Given the description of an element on the screen output the (x, y) to click on. 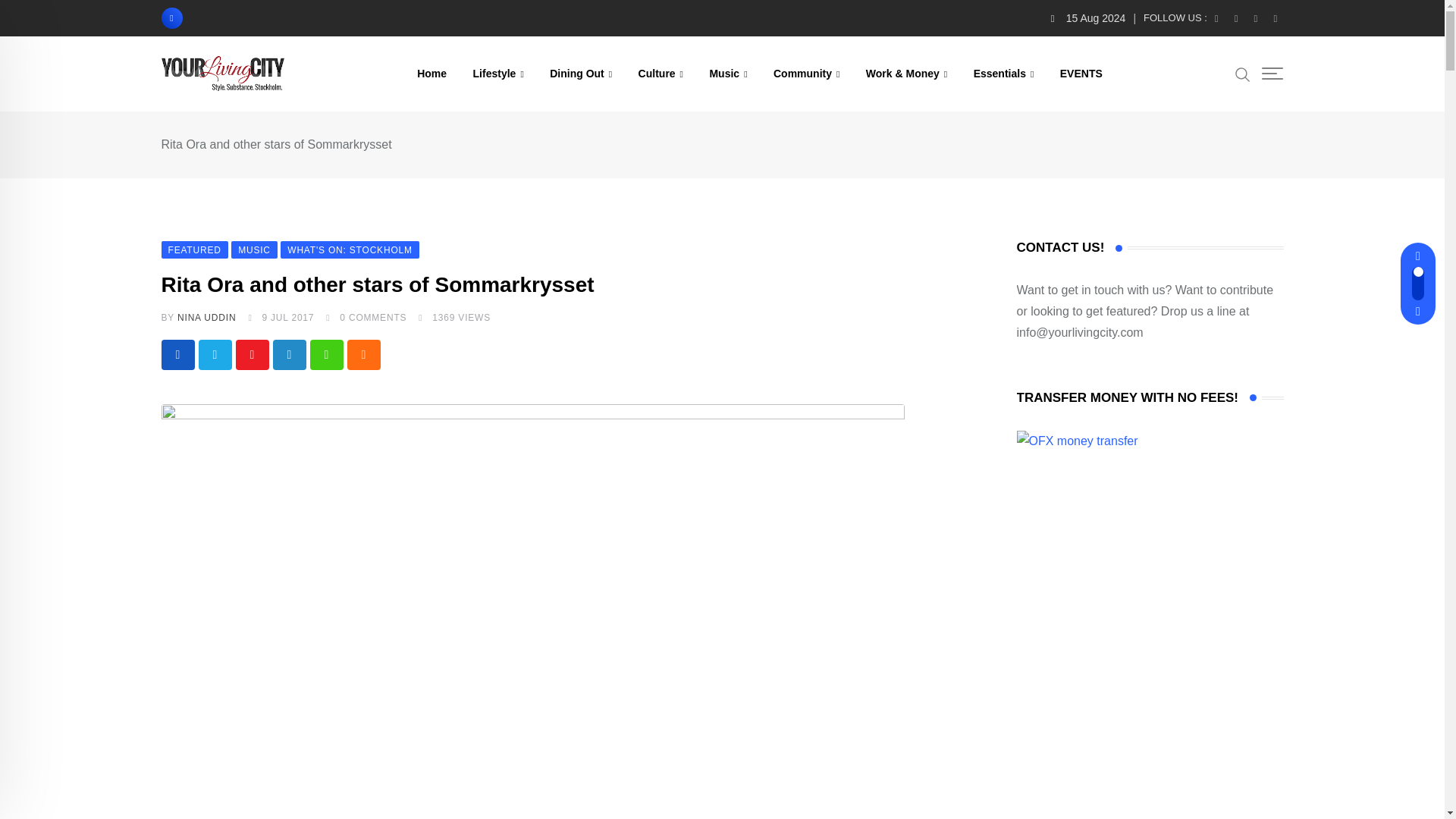
Posts by Nina Uddin (206, 317)
Culture (660, 73)
Dining Out (580, 73)
Lifestyle (498, 73)
OFX (1076, 441)
Search (1242, 73)
